Given the description of an element on the screen output the (x, y) to click on. 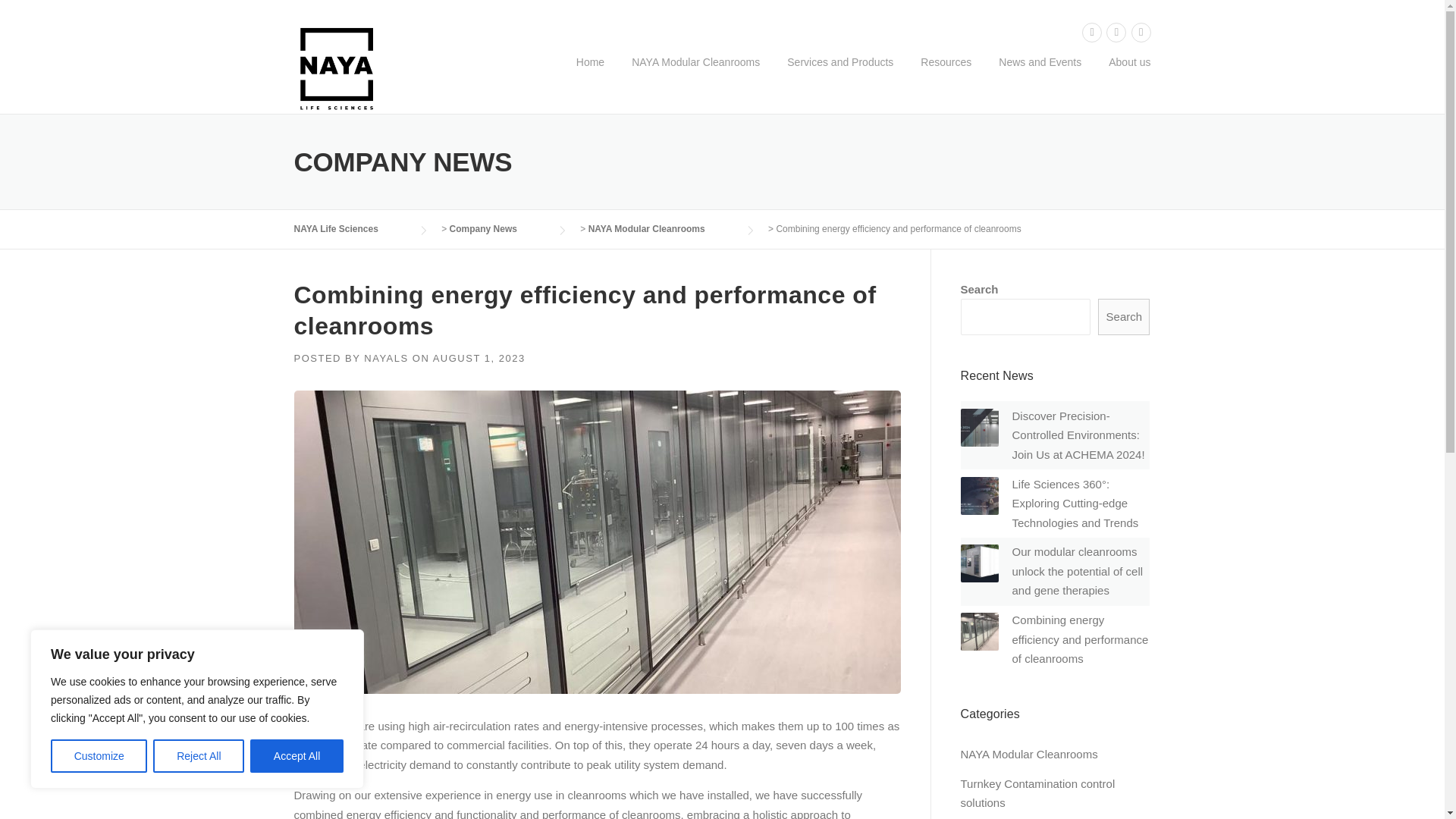
Combining energy efficiency and performance of cleanrooms (1079, 639)
Go to the NAYA Modular Cleanrooms Category archives. (661, 228)
Linkedin (1115, 32)
Facebook (1091, 32)
Customize (98, 756)
Go to Company News. (498, 228)
Go to NAYA Life Sciences. (351, 228)
Accept All (296, 756)
Home (589, 74)
Reject All (198, 756)
Instagram (1141, 32)
NAYA Modular Cleanrooms (695, 74)
NAYA Life Sciences (337, 66)
